Given the description of an element on the screen output the (x, y) to click on. 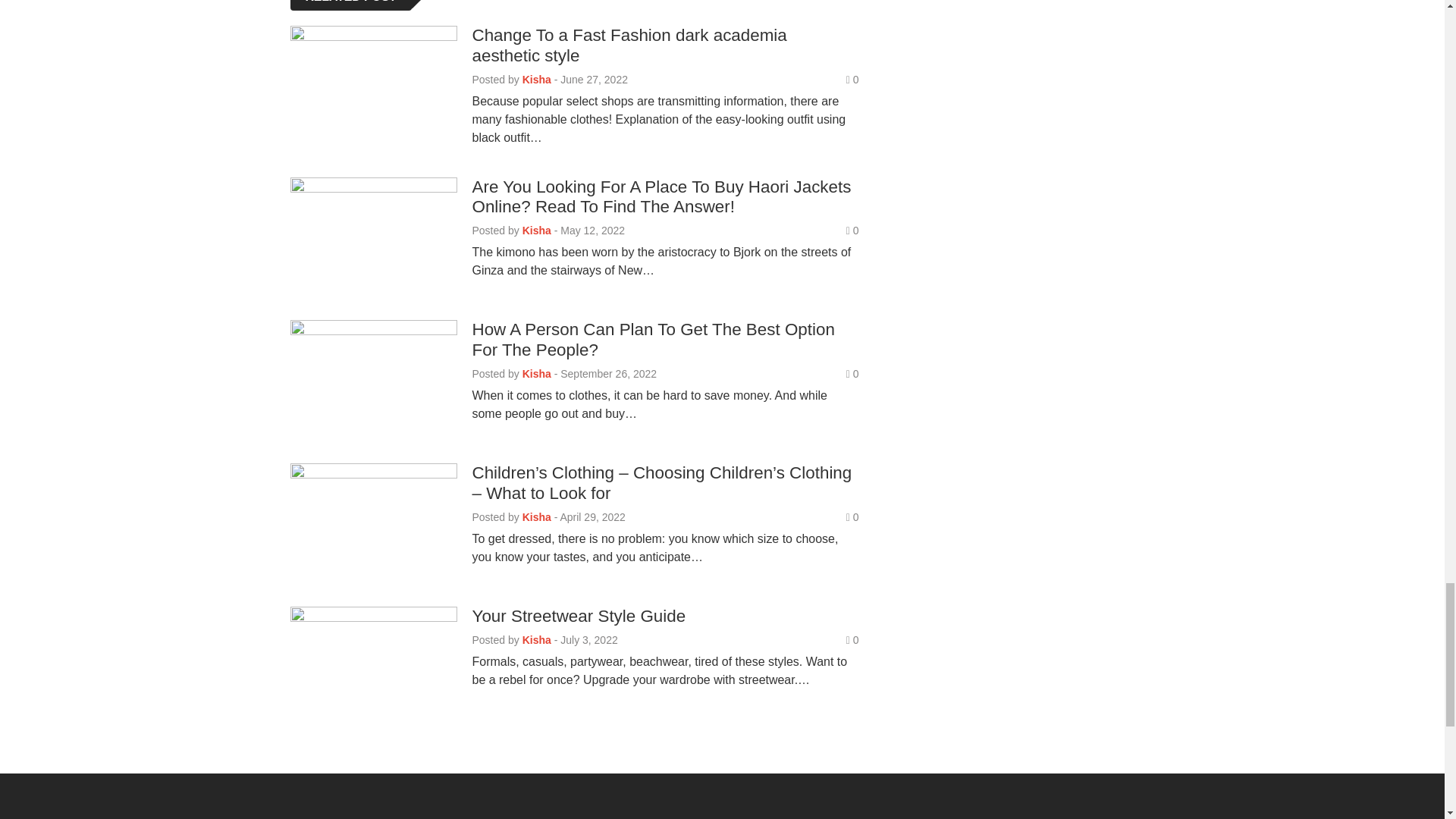
Change To a Fast Fashion dark academia aesthetic style (628, 45)
Posts by Kisha (536, 79)
Posts by Kisha (536, 230)
